Given the description of an element on the screen output the (x, y) to click on. 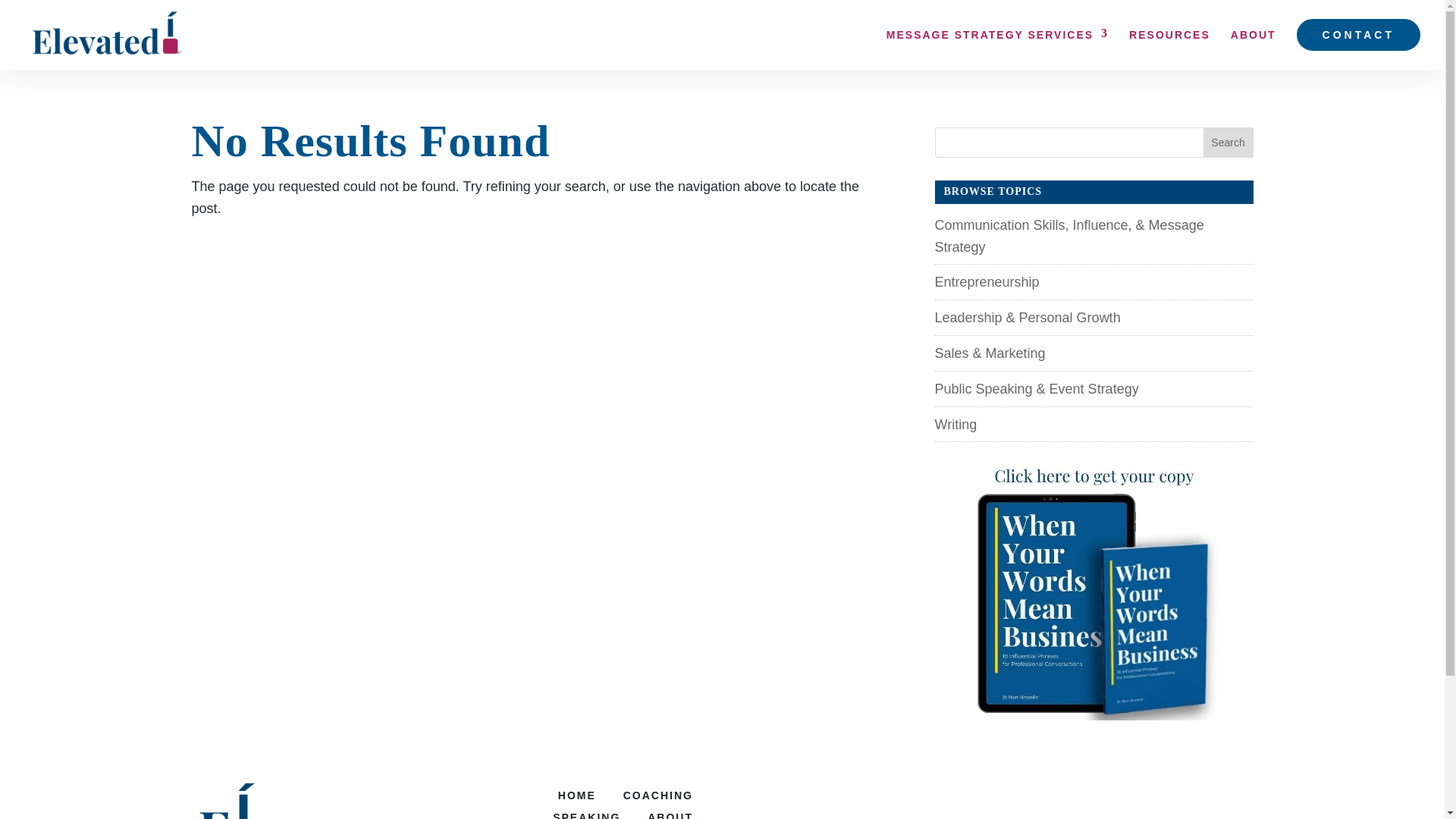
SPEAKING (586, 815)
ABOUT (1253, 43)
RESOURCES (1169, 43)
ABOUT (670, 815)
Search (1228, 142)
Writing (955, 424)
Search (1228, 142)
Entrepreneurship (986, 281)
COACHING (658, 795)
CONTACT (1359, 34)
